Given the description of an element on the screen output the (x, y) to click on. 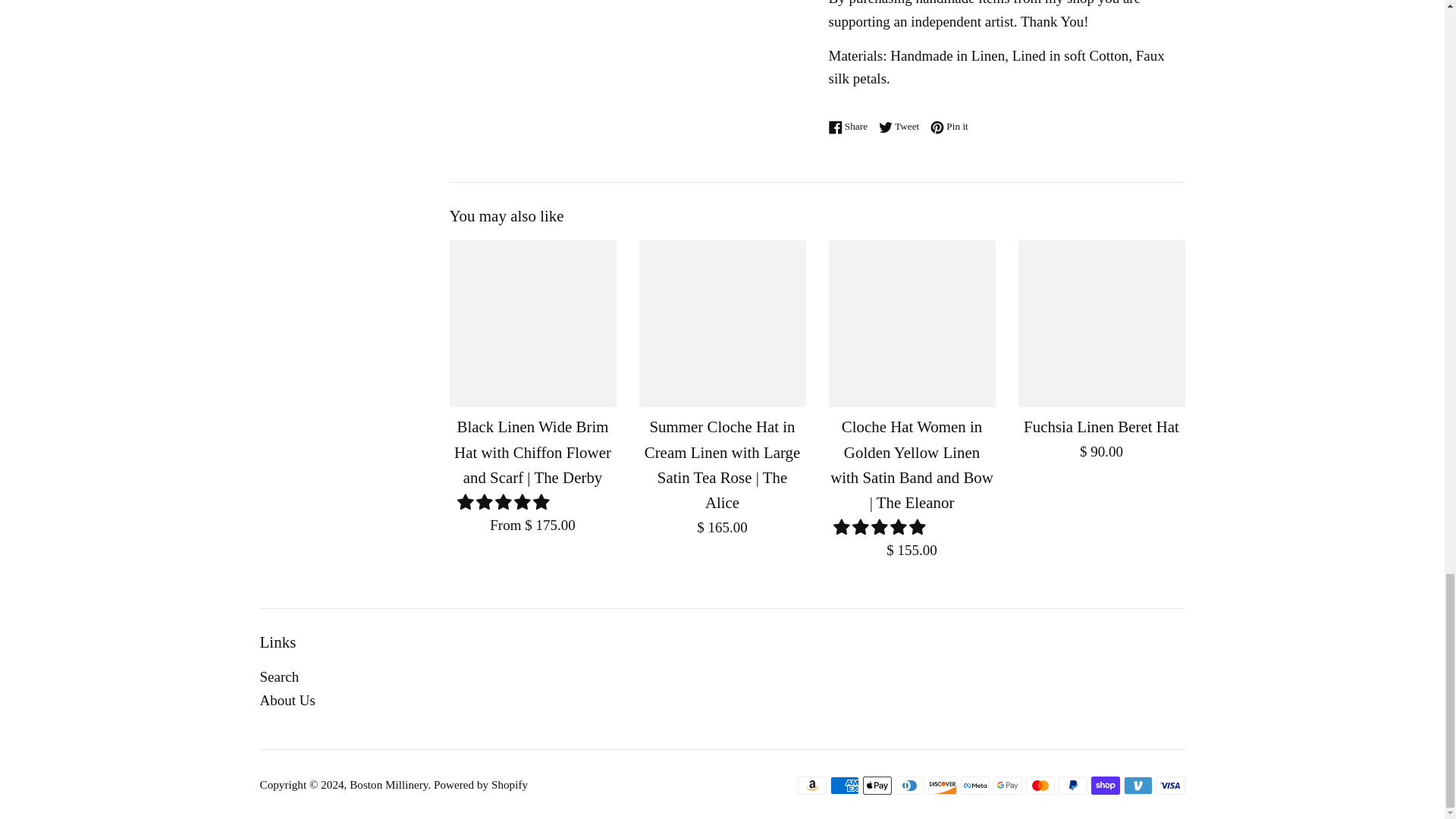
PayPal (1072, 785)
Shop Pay (1104, 785)
Apple Pay (877, 785)
Fuchsia Linen Beret Hat (1101, 323)
Mastercard (1039, 785)
Diners Club (909, 785)
Amazon (812, 785)
Google Pay (1007, 785)
Meta Pay (973, 785)
Venmo (1138, 785)
